Given the description of an element on the screen output the (x, y) to click on. 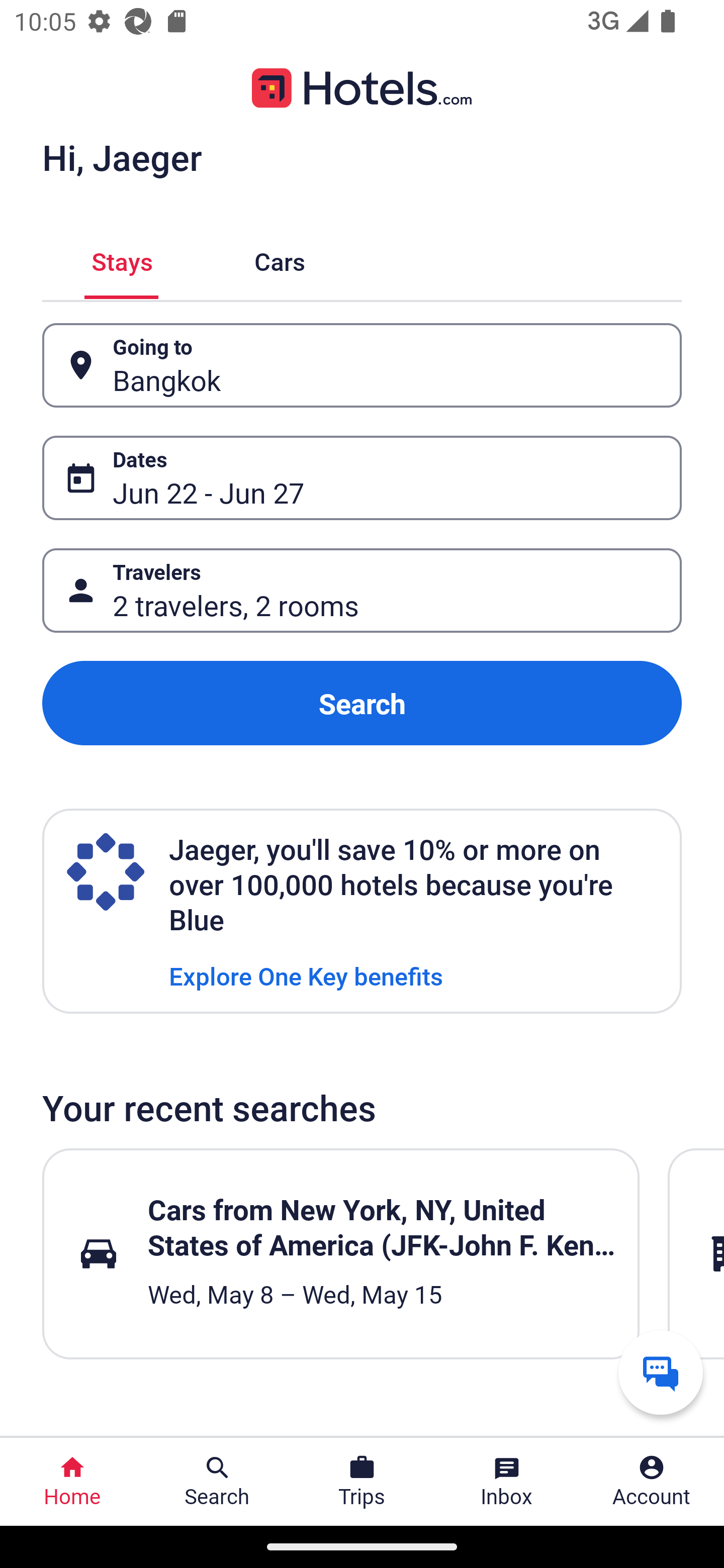
Hi, Jaeger (121, 156)
Cars (279, 259)
Going to Button Bangkok (361, 365)
Dates Button Jun 22 - Jun 27 (361, 477)
Travelers Button 2 travelers, 2 rooms (361, 590)
Search (361, 702)
Get help from a virtual agent (660, 1371)
Search Search Button (216, 1481)
Trips Trips Button (361, 1481)
Inbox Inbox Button (506, 1481)
Account Profile. Button (651, 1481)
